Given the description of an element on the screen output the (x, y) to click on. 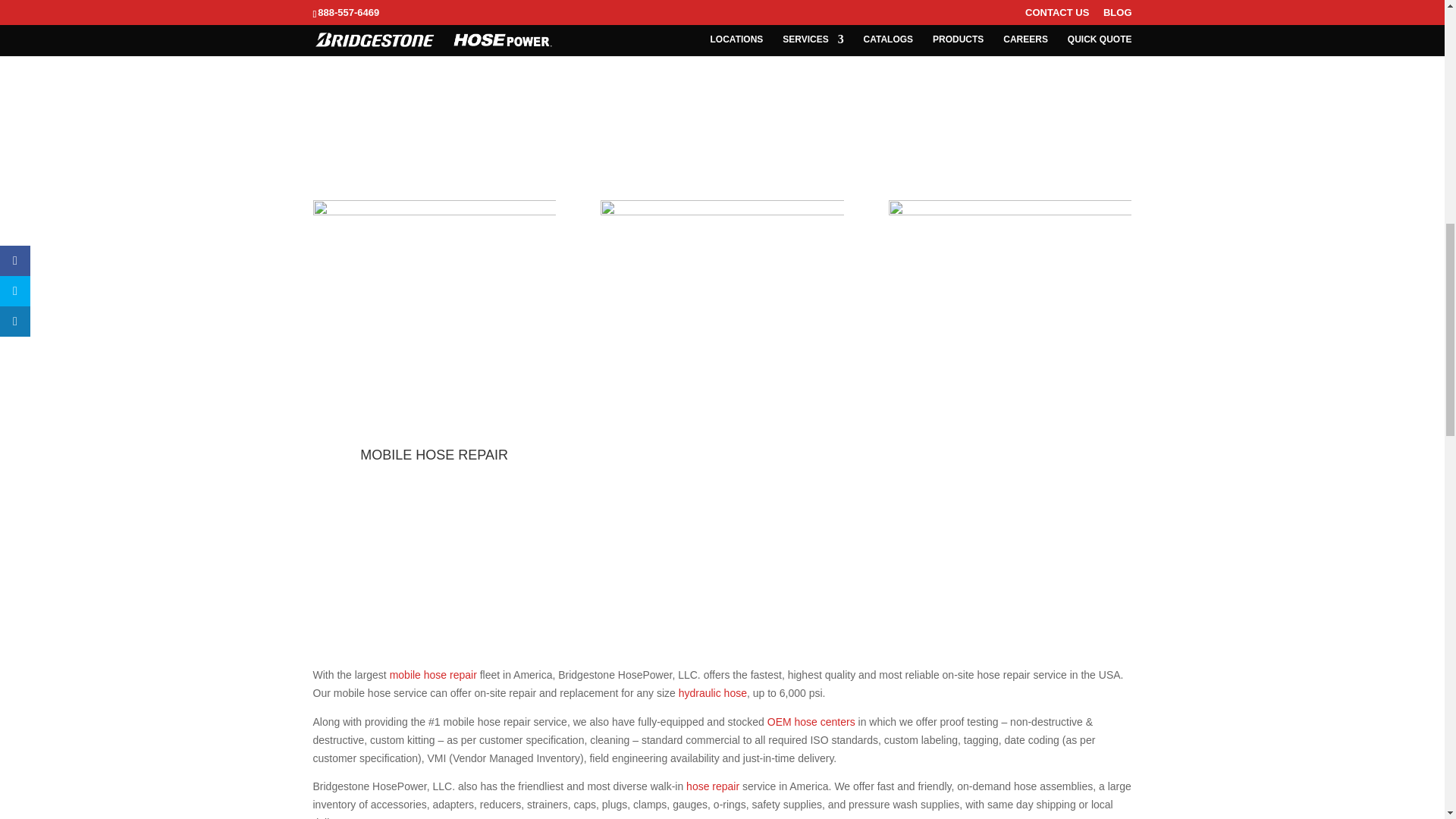
MOBILE HOSE REPAIR (433, 454)
hydraulic hose (712, 693)
hose repair (710, 786)
COUNTER SERVICE (1009, 454)
OEM hose centers (811, 721)
OEM CENTERS (721, 454)
mobile hose repair (433, 674)
